Given the description of an element on the screen output the (x, y) to click on. 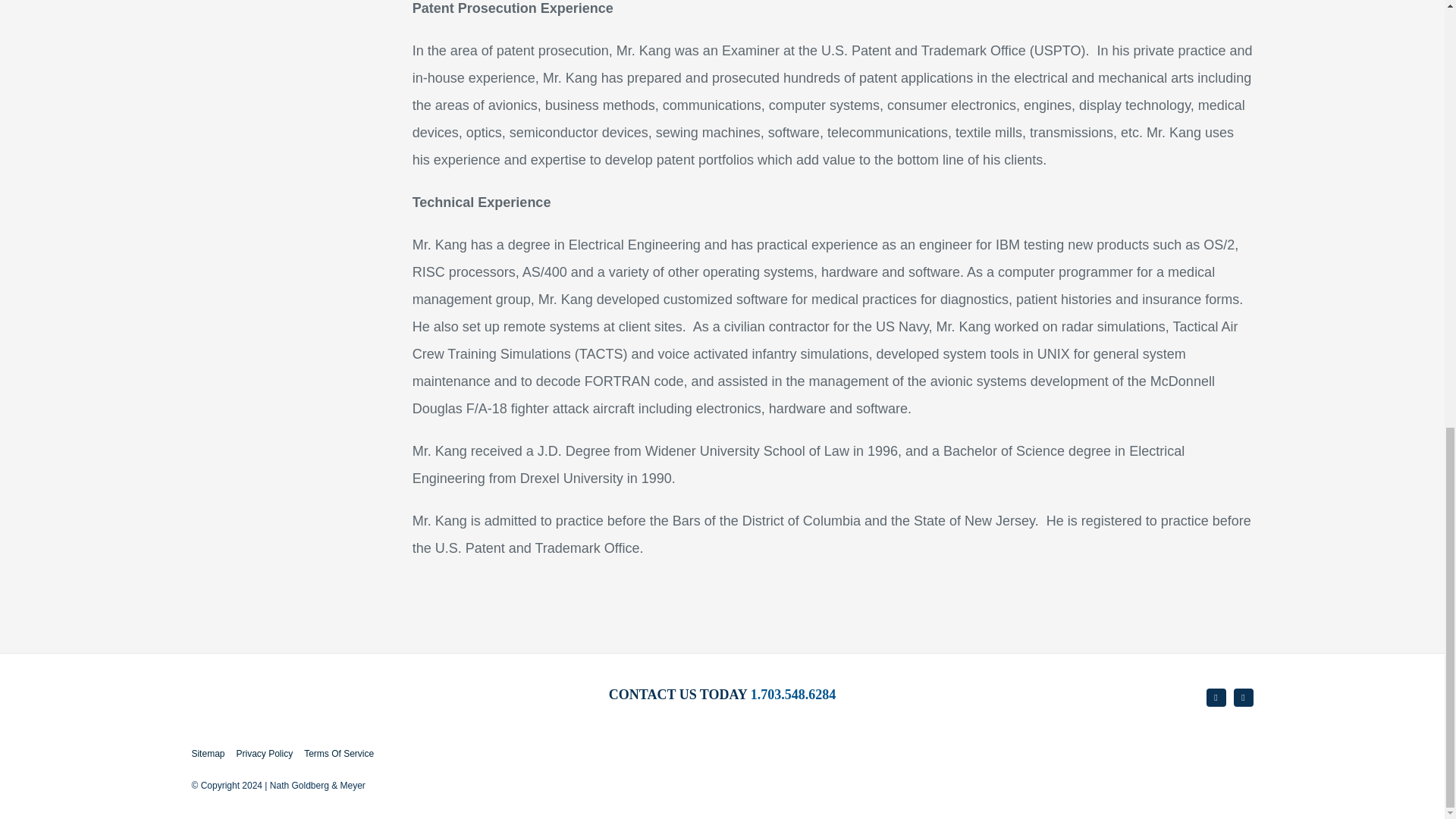
LinkedIn (1243, 697)
YouTube (1216, 697)
NGM-logo-final-RGB-med web footer (283, 703)
